Given the description of an element on the screen output the (x, y) to click on. 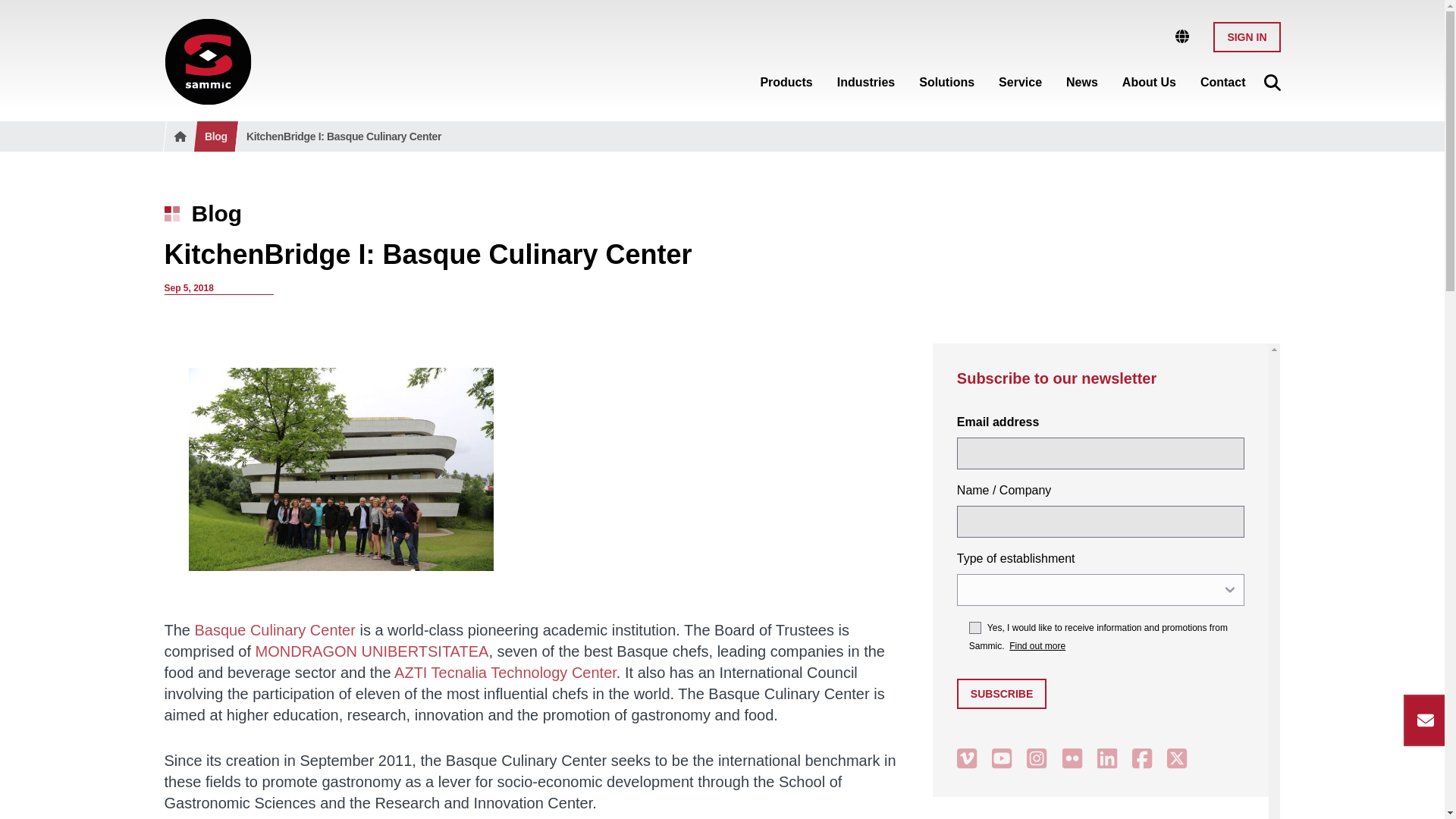
Y (975, 627)
News (1081, 78)
Contact (1222, 78)
SIGN IN (1245, 36)
Main page (206, 61)
